Given the description of an element on the screen output the (x, y) to click on. 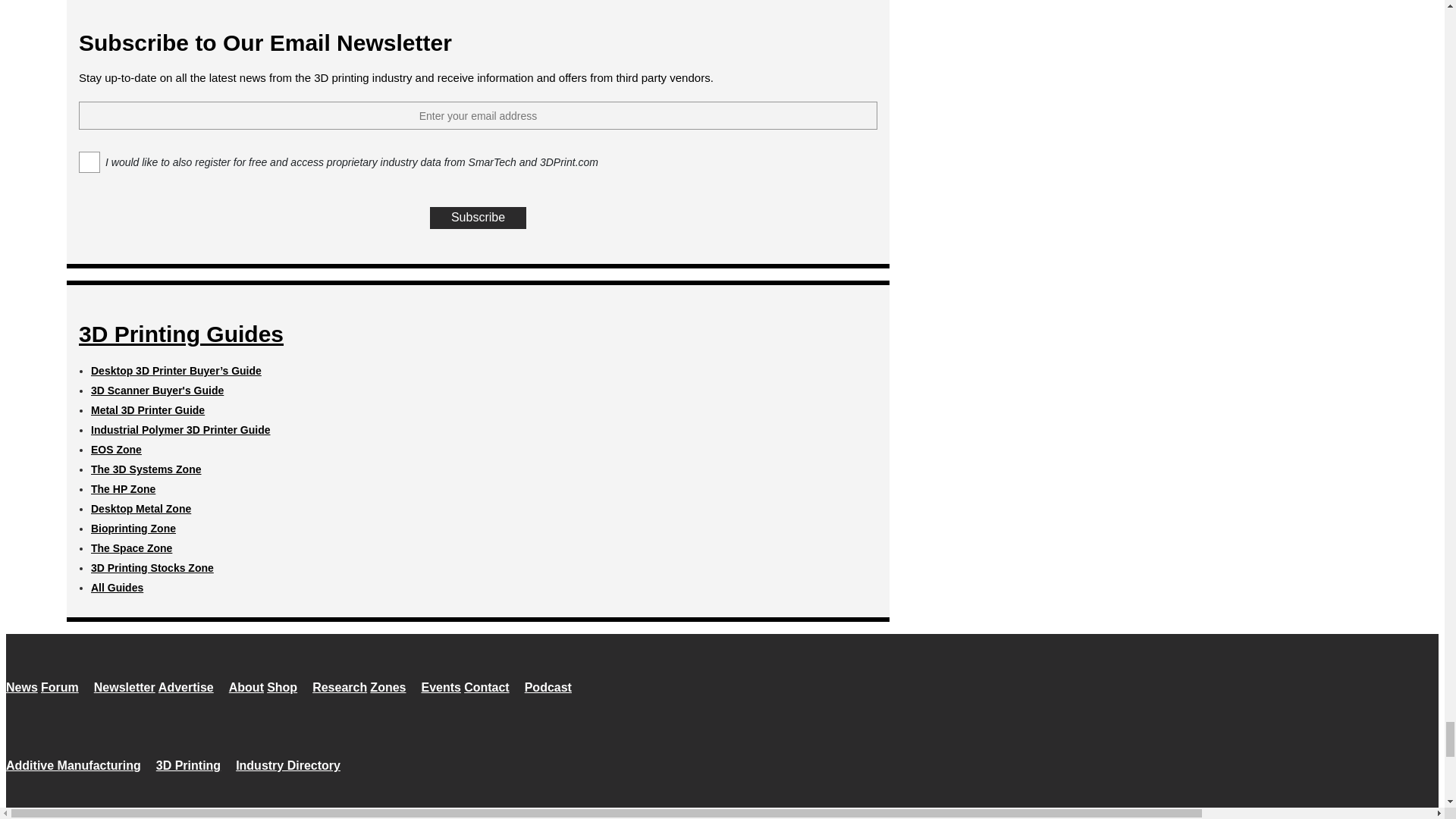
Subscribe (477, 218)
